Given the description of an element on the screen output the (x, y) to click on. 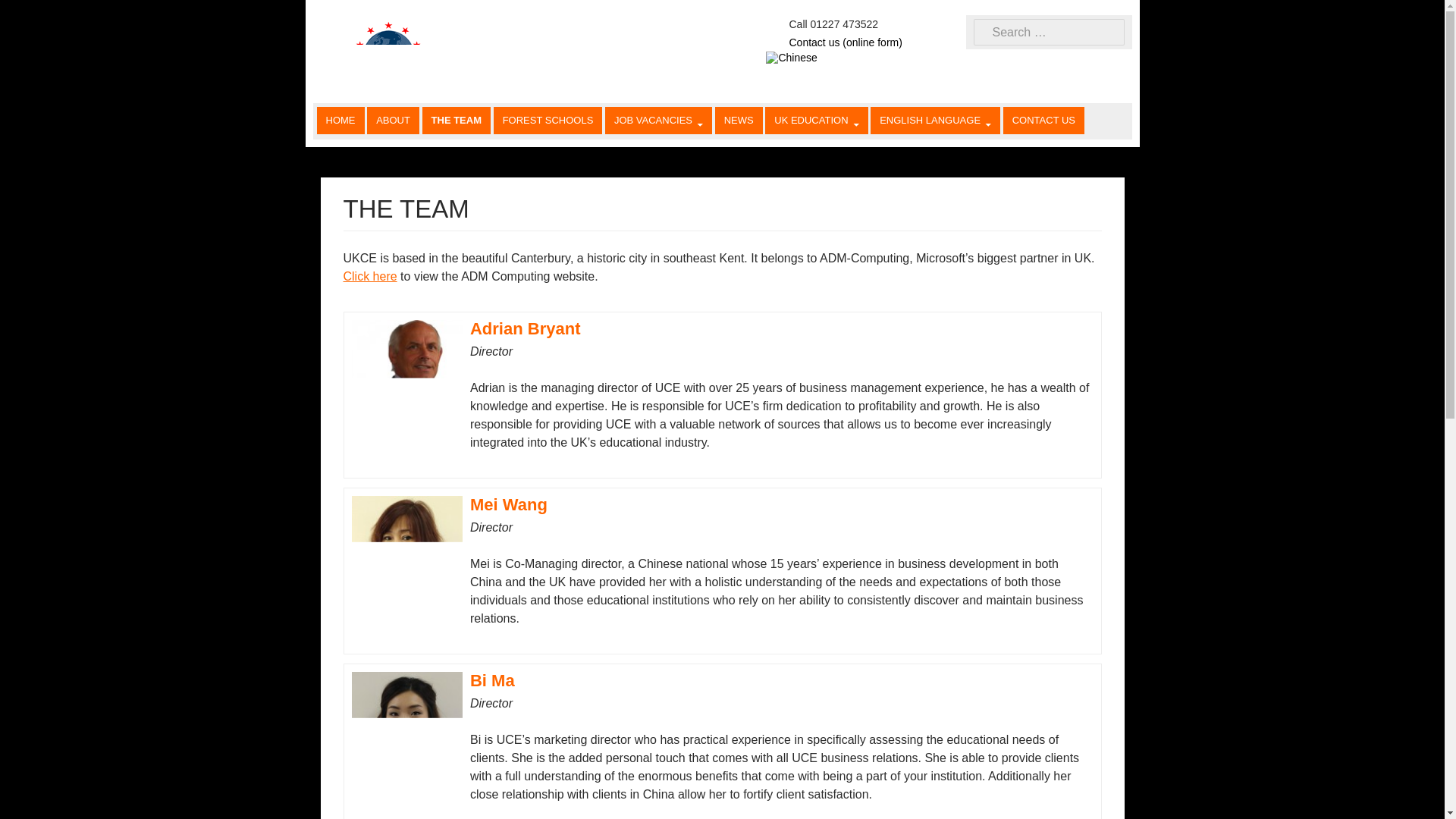
ENGLISH LANGUAGE (935, 120)
UK EDUCATION (816, 120)
Contact Us (845, 42)
JOB VACANCIES (658, 120)
HOME (341, 120)
ABOUT (392, 120)
NEWS (738, 120)
Search (42, 13)
THE TEAM (456, 120)
CONTACT US (1043, 120)
